Given the description of an element on the screen output the (x, y) to click on. 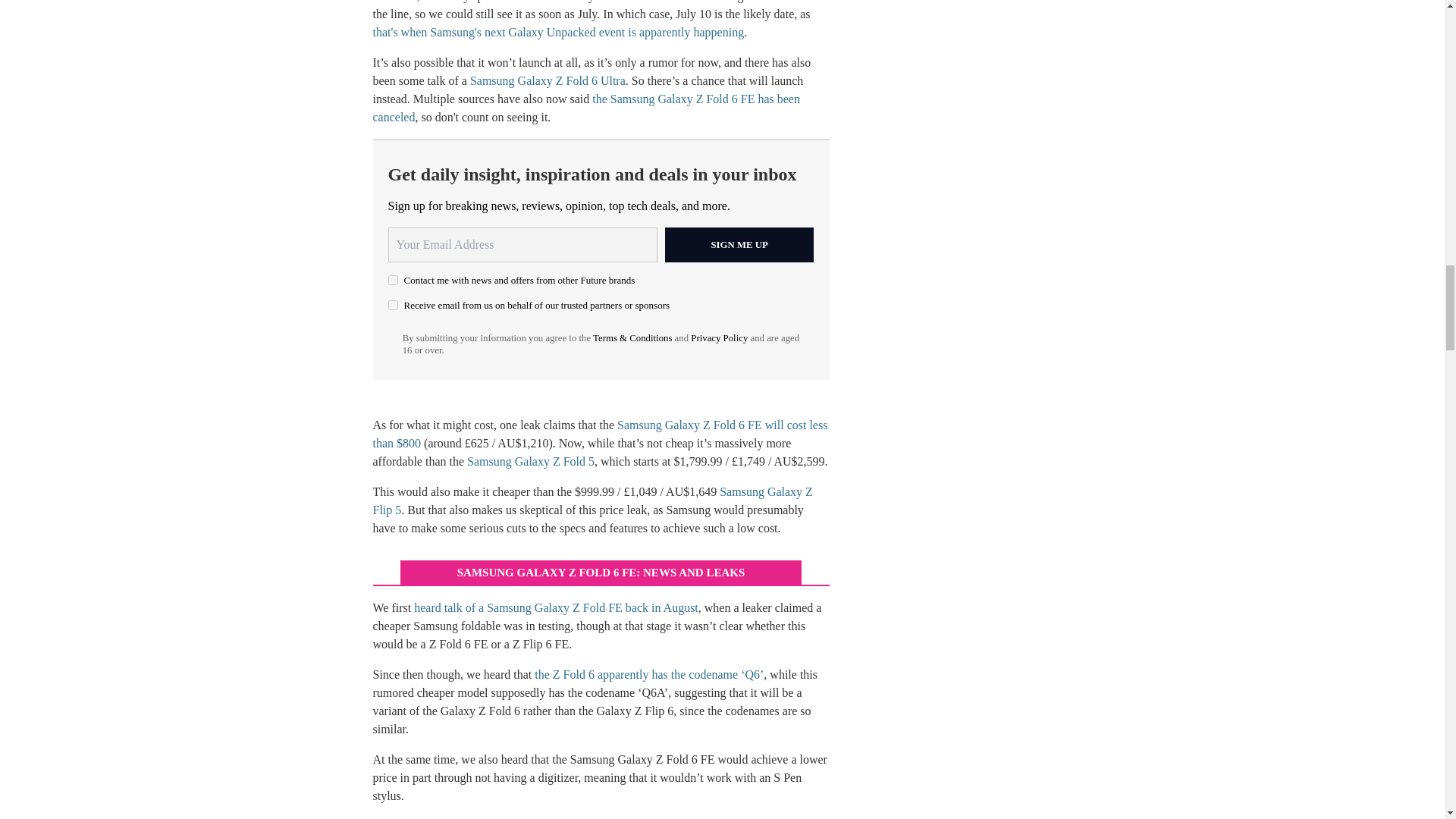
on (392, 280)
on (392, 305)
Sign me up (739, 244)
